Given the description of an element on the screen output the (x, y) to click on. 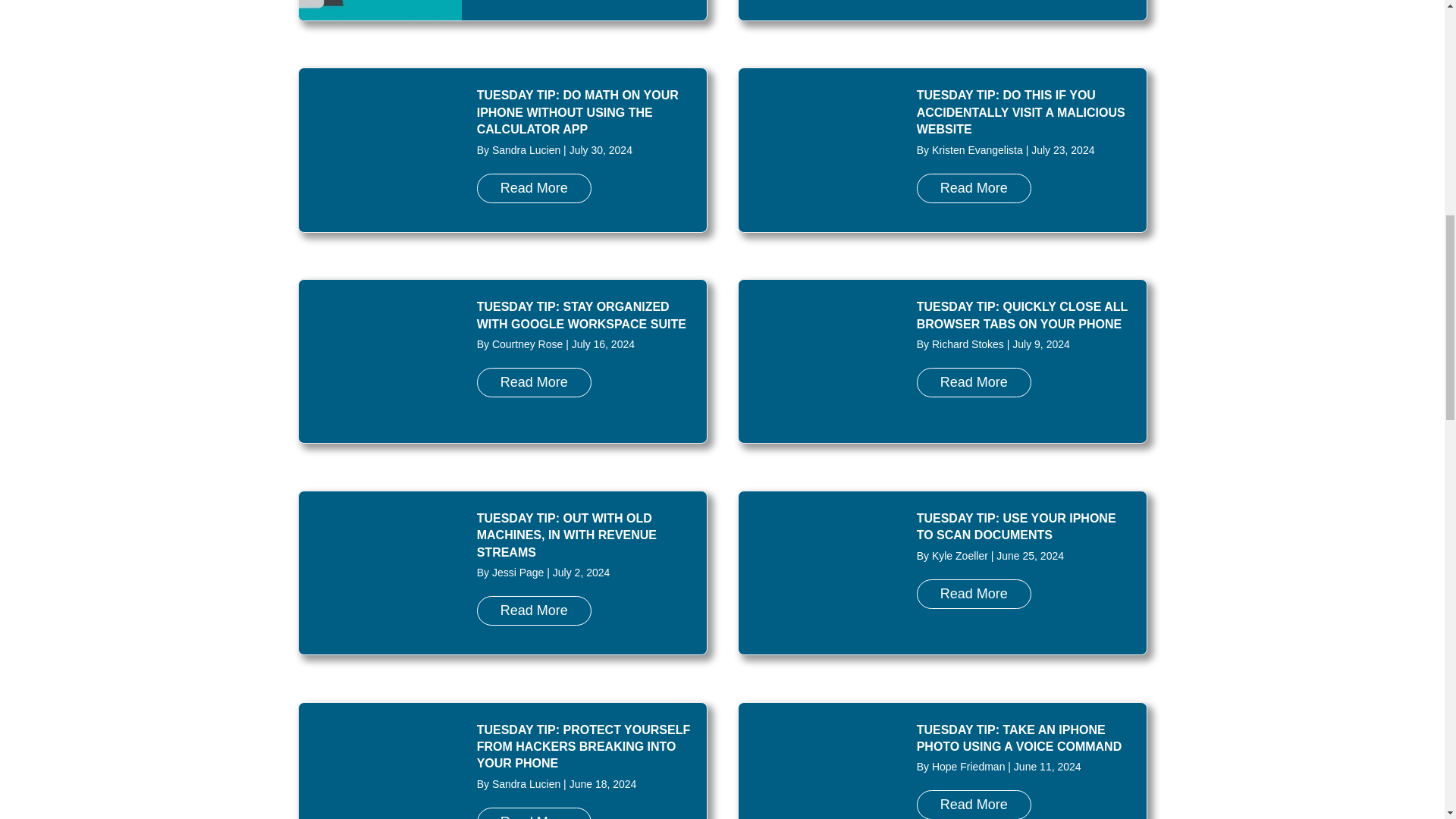
calculator (379, 148)
Tuesday Tip August 13, 2024 (379, 10)
